Given the description of an element on the screen output the (x, y) to click on. 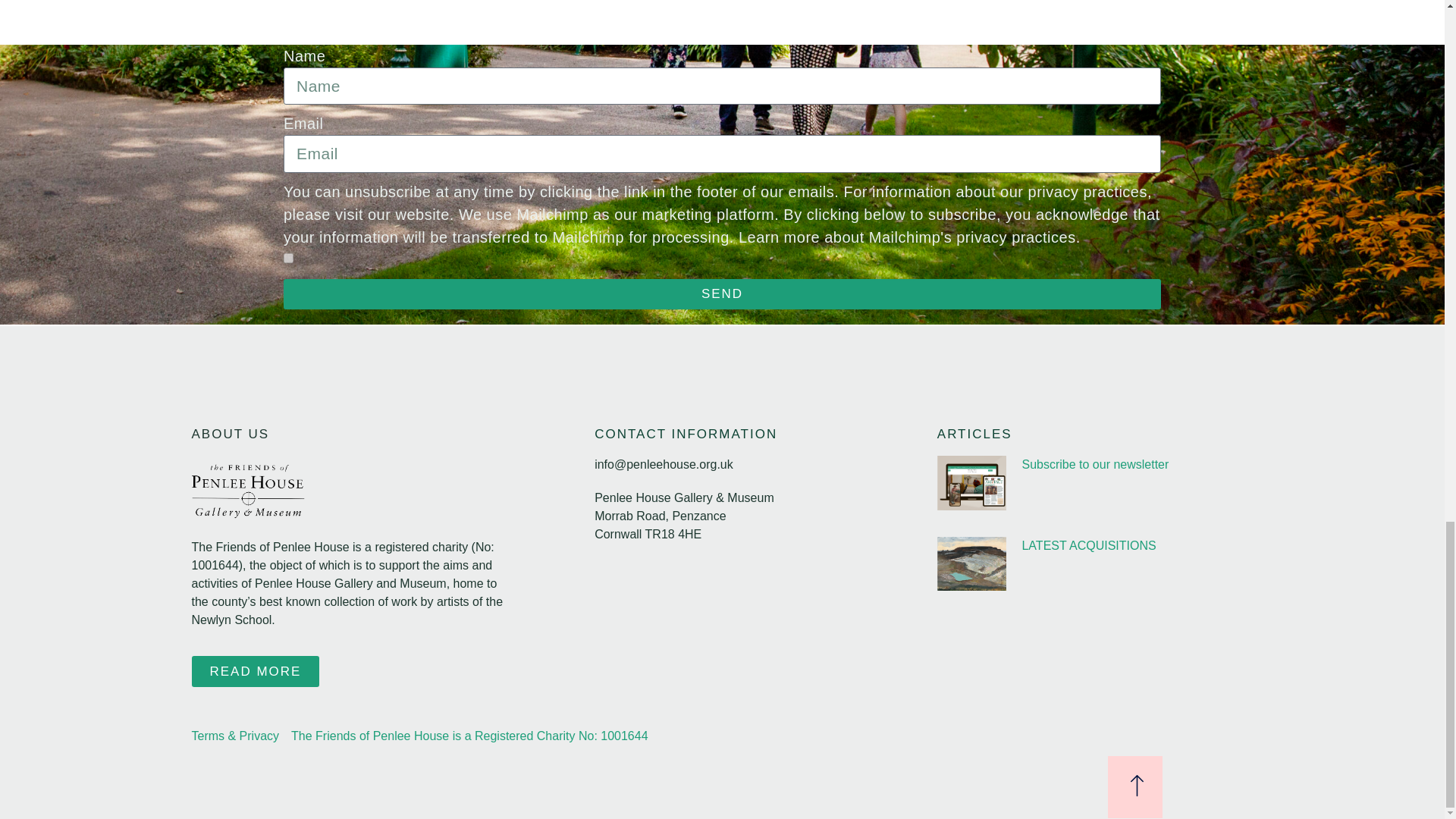
READ MORE (254, 671)
SEND (721, 294)
